Given the description of an element on the screen output the (x, y) to click on. 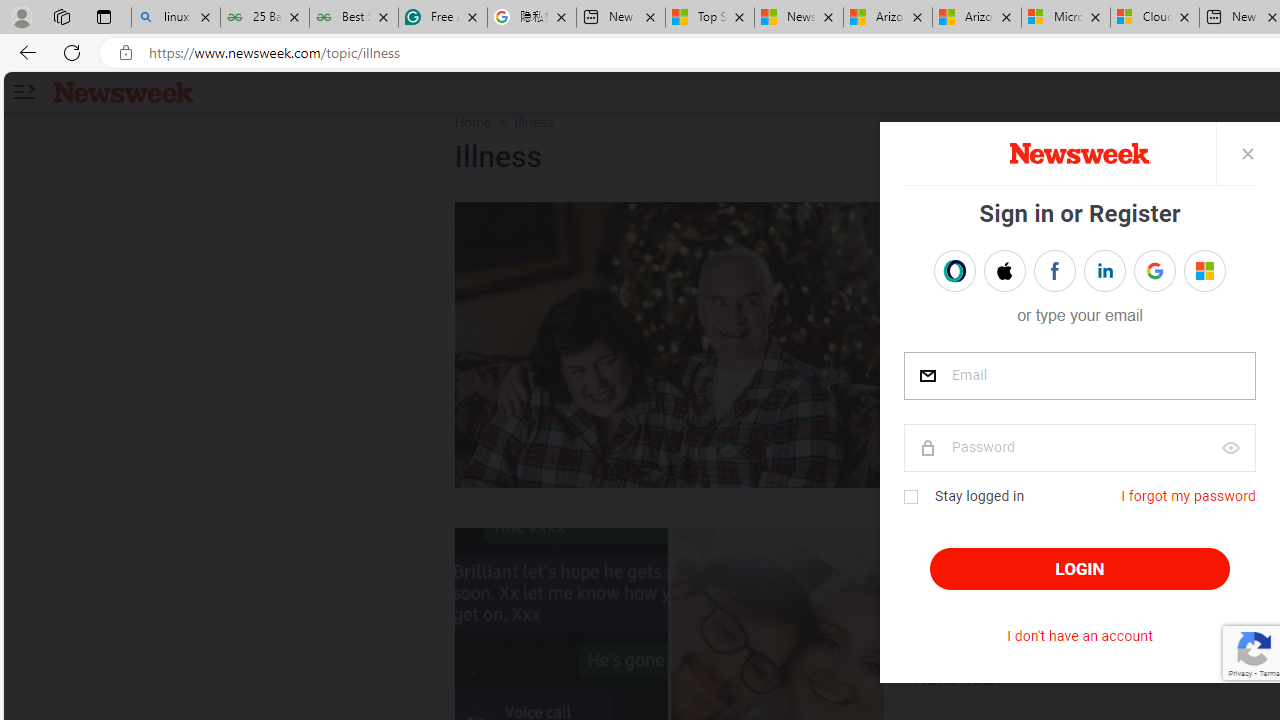
I forgot my password (1187, 496)
Sign in with APPLE (1004, 270)
linux basic - Search (175, 17)
25 Basic Linux Commands For Beginners - GeeksforGeeks (264, 17)
ON THE INTERNET (1014, 548)
Class: checkbox (909, 497)
Newsweek logo (123, 91)
Sign in with GOOGLE (1154, 270)
Sign in with OPENPASS (954, 270)
